Given the description of an element on the screen output the (x, y) to click on. 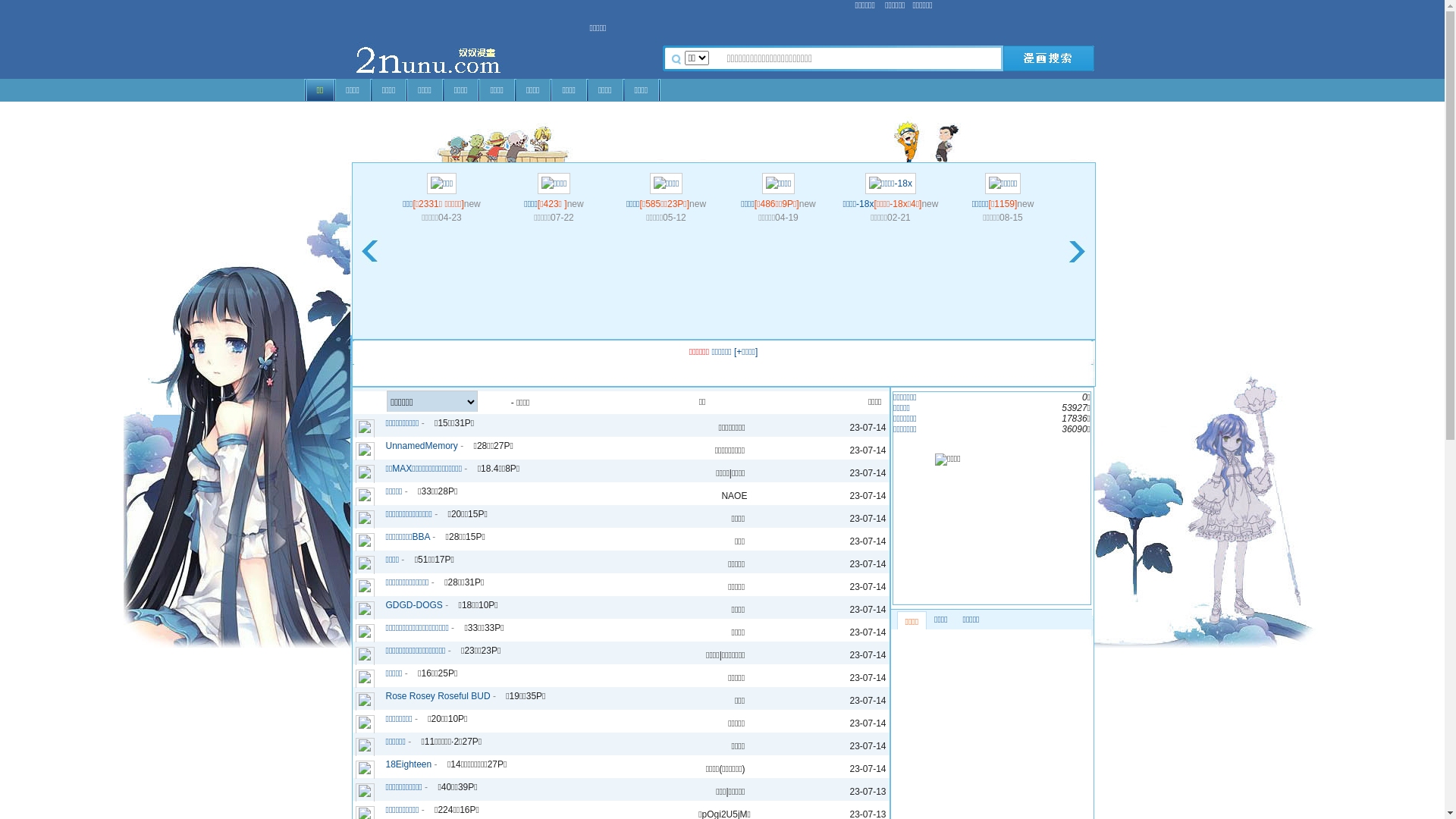
18Eighteen Element type: text (408, 763)
Rose Rosey Roseful BUD Element type: text (437, 695)
UnnamedMemory Element type: text (421, 444)
GDGD-DOGS Element type: text (413, 604)
